Given the description of an element on the screen output the (x, y) to click on. 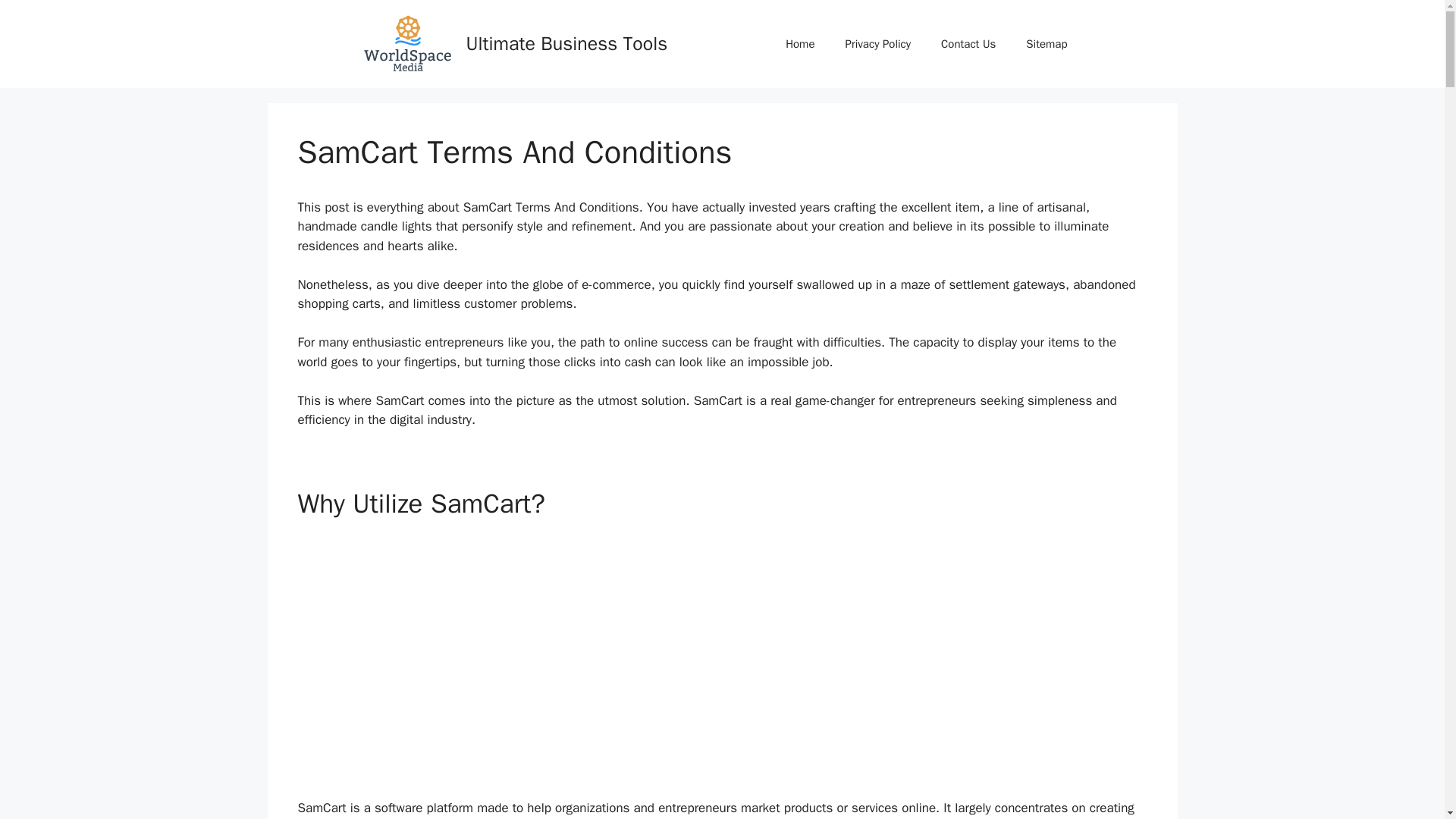
Privacy Policy (877, 43)
Sitemap (1045, 43)
Home (799, 43)
YouTube video player (717, 653)
Contact Us (968, 43)
Ultimate Business Tools (565, 43)
